Given the description of an element on the screen output the (x, y) to click on. 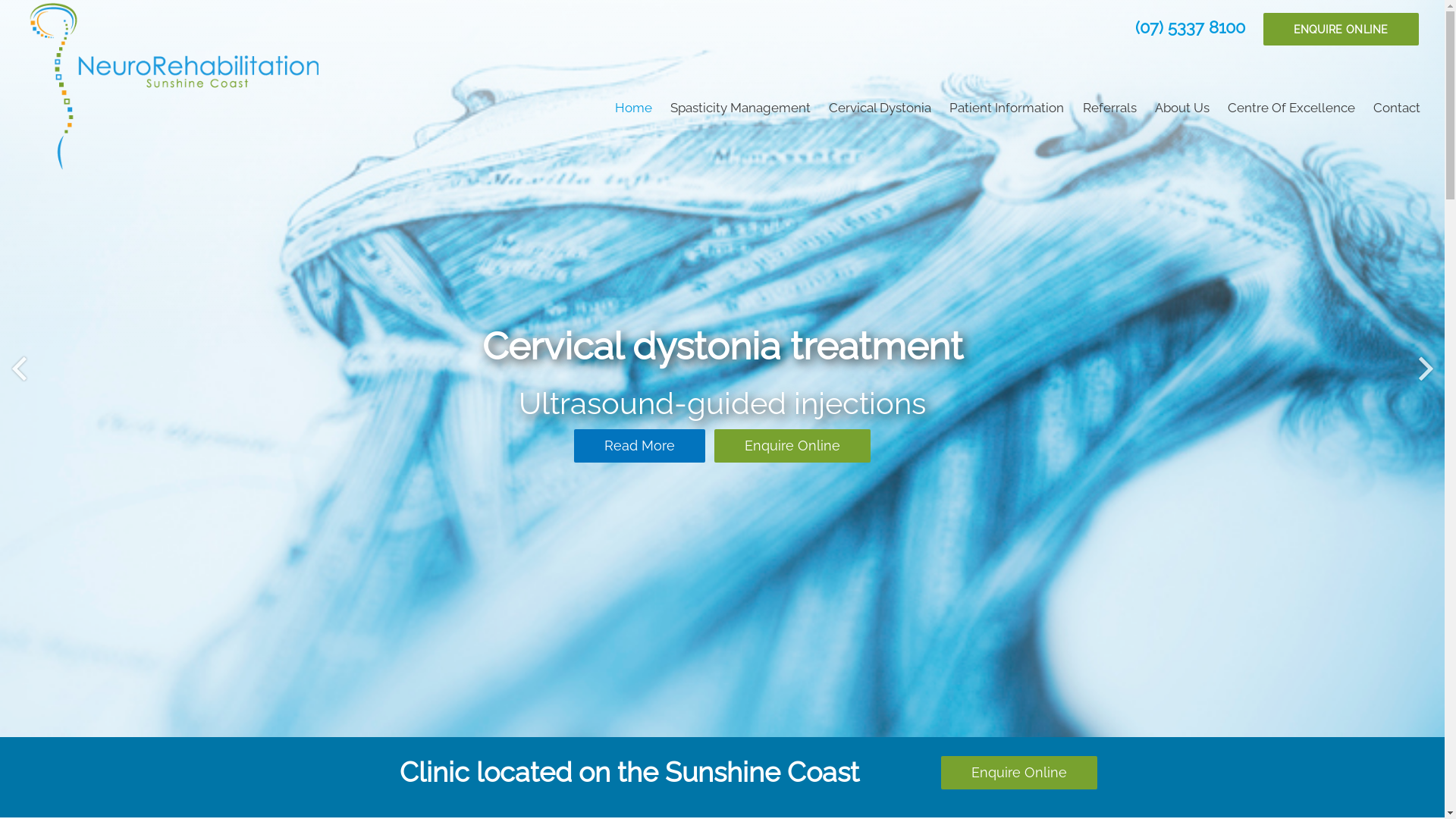
Read More Element type: text (639, 445)
Next Element type: text (1425, 368)
Centre Of Excellence Element type: text (1291, 107)
Spasticity Management Element type: text (740, 107)
Enquire Online Element type: text (792, 445)
Previous Element type: text (18, 368)
Enquire Online Element type: text (1019, 772)
About Us Element type: text (1181, 107)
(07) 5337 8100 Element type: text (1190, 27)
Contact Element type: text (1396, 107)
Home Element type: text (633, 107)
Patient Information Element type: text (1006, 107)
Cervical Dystonia Element type: text (879, 107)
Referrals Element type: text (1109, 107)
ENQUIRE ONLINE Element type: text (1340, 28)
